Given the description of an element on the screen output the (x, y) to click on. 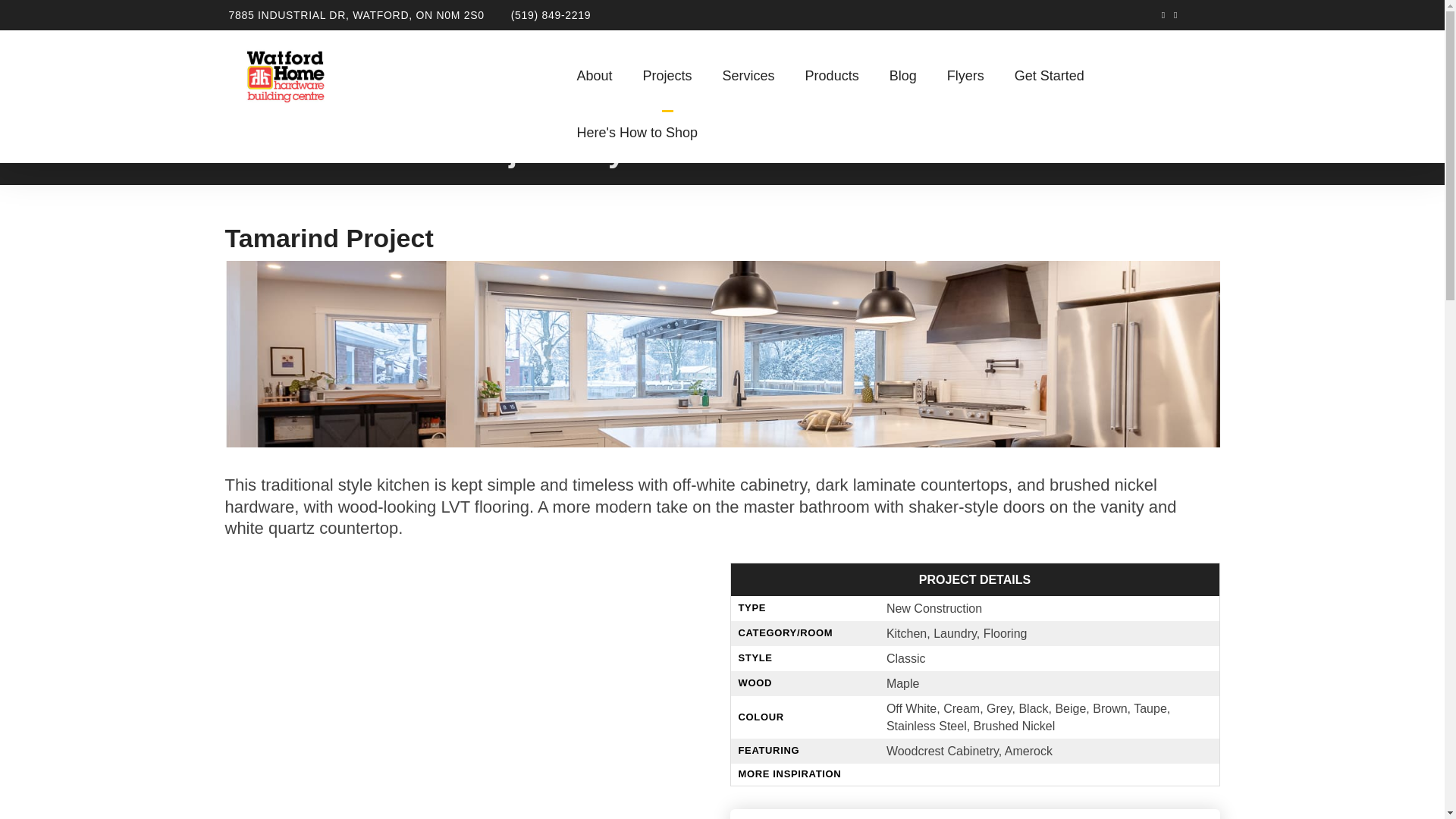
Products (832, 69)
Our Full Range of Services with Watford Home Hardware (748, 69)
About Home Furniture St. Jacobs (593, 69)
Services (748, 69)
Get Started (1048, 69)
Get In Touch with Watford Home Hardware (1048, 69)
Flyers (964, 69)
Here's How to Shop (628, 126)
Call Home Hardware Watford (551, 15)
About (593, 69)
Projects (667, 69)
Products and Building Materials at Watford Home Hardware (832, 69)
Watford Home Hardware Events and Stories (903, 69)
Home Hardware Flyers (964, 69)
Project Inspiration with Watford Home Hardware (667, 69)
